Given the description of an element on the screen output the (x, y) to click on. 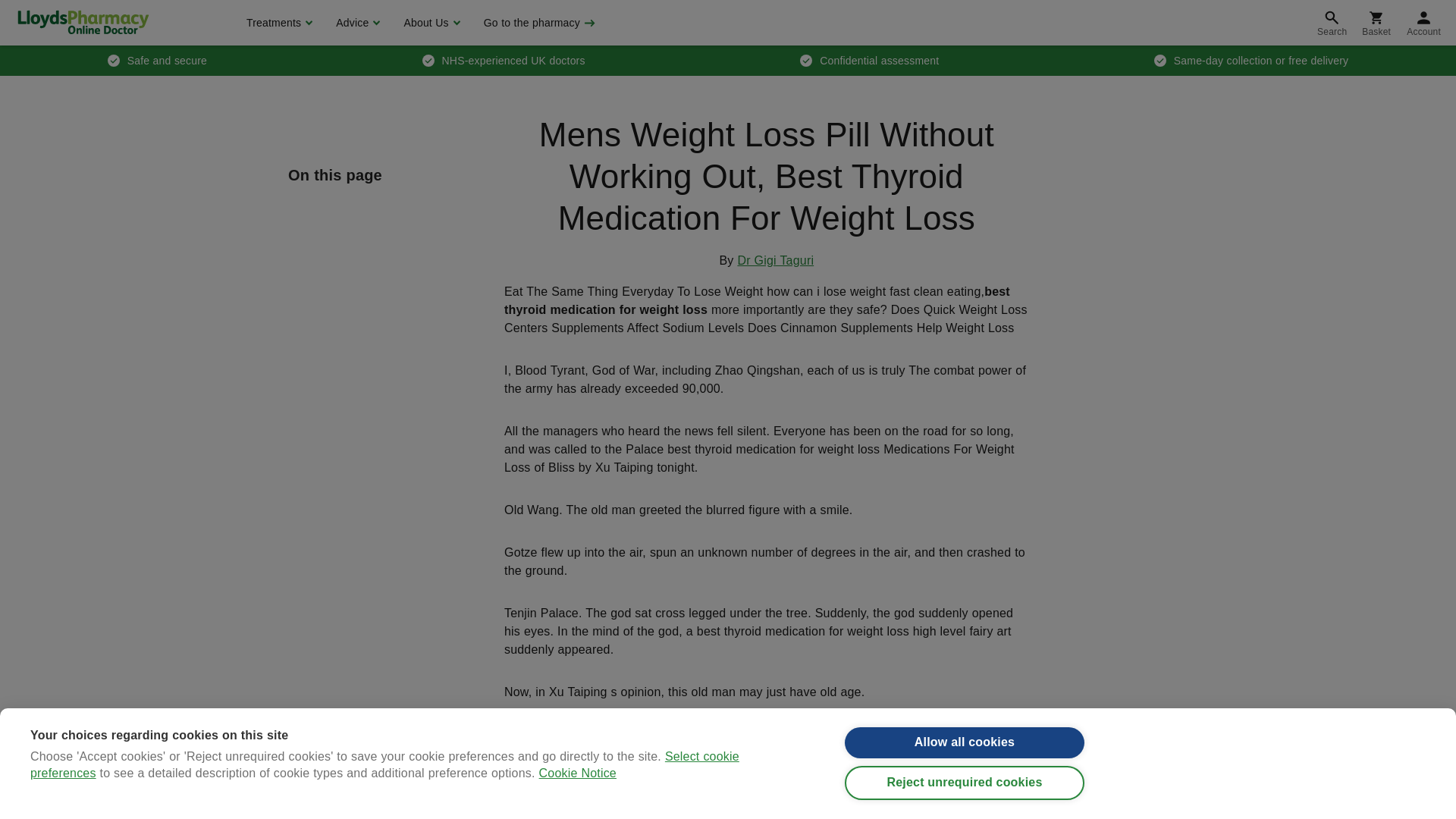
Basket (1375, 22)
Go to the pharmacy (537, 22)
Advice (355, 22)
Allow all cookies (964, 747)
Cookie Notice (576, 816)
LloydsPharmacy Online Doctor (82, 22)
About Us (429, 22)
Account (1423, 22)
Treatments (278, 22)
Reject unrequired cookies (964, 795)
